Given the description of an element on the screen output the (x, y) to click on. 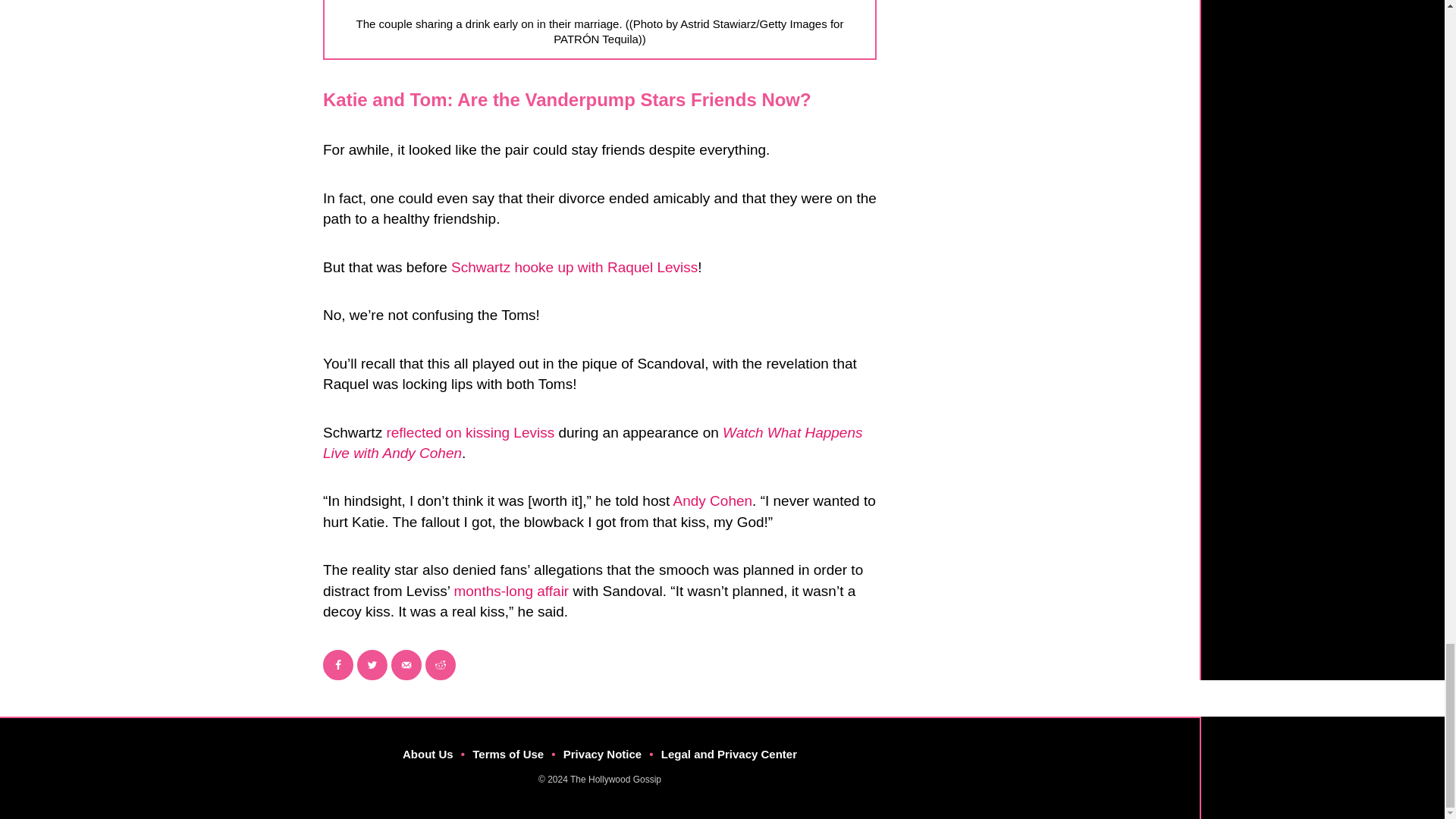
Share on Facebook (338, 665)
Send over email (406, 665)
Share on Twitter (371, 665)
Share on Reddit (440, 665)
